Given the description of an element on the screen output the (x, y) to click on. 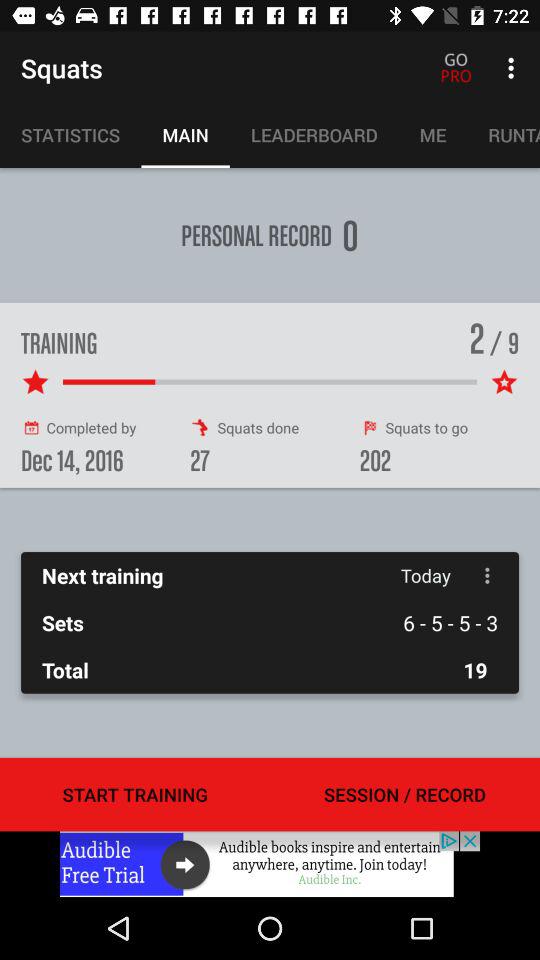
advertisement (270, 864)
